Given the description of an element on the screen output the (x, y) to click on. 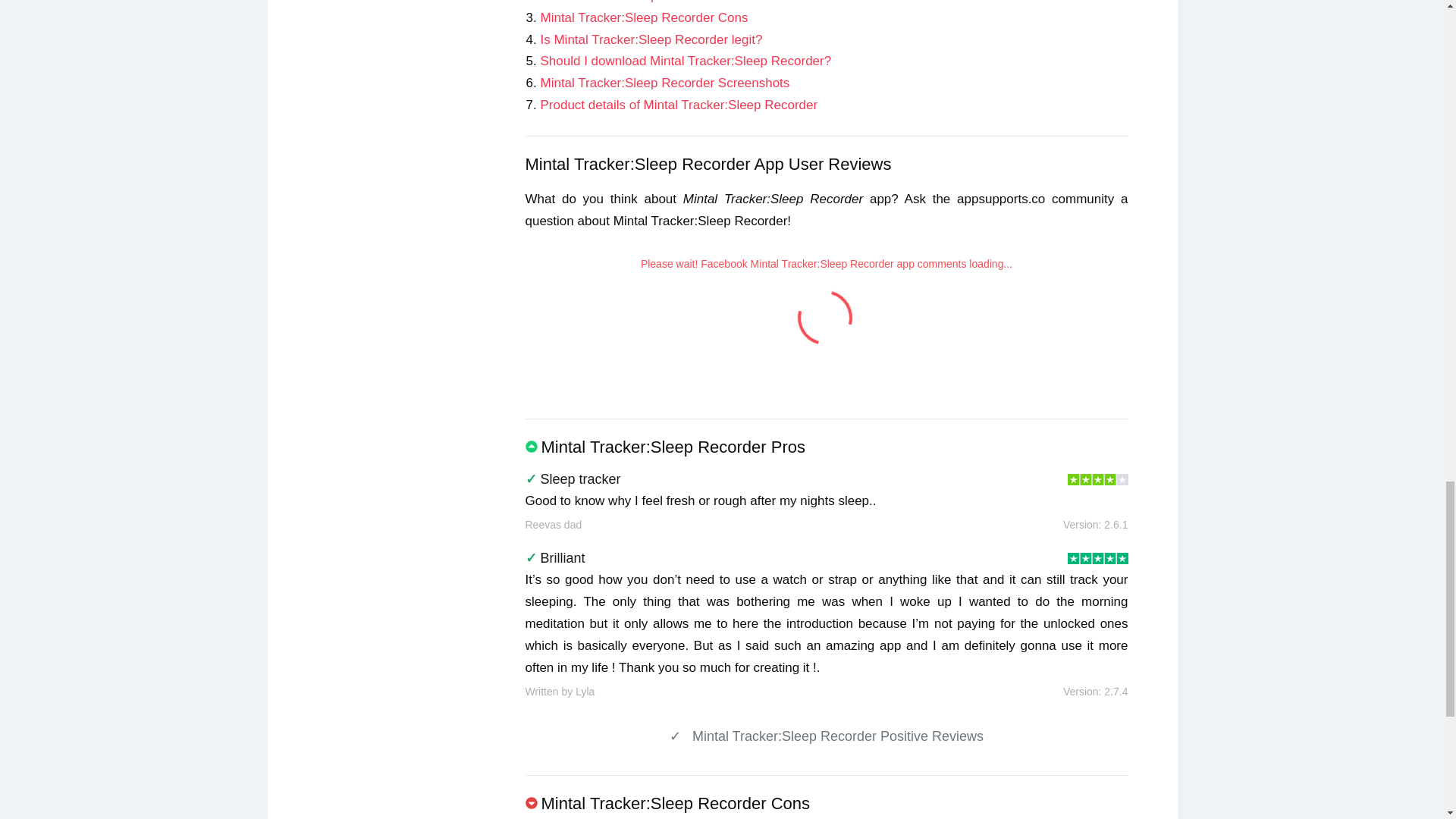
Mintal Tracker:Sleep Recorder Pros (642, 1)
Product details of Mintal Tracker:Sleep Recorder (678, 104)
Mintal Tracker:Sleep Recorder Pros (642, 1)
Should I download Mintal Tracker:Sleep Recorder? (685, 60)
Mintal Tracker:Sleep Recorder Screenshots (664, 83)
Mintal Tracker:Sleep Recorder Cons (644, 17)
Is Mintal Tracker:Sleep Recorder legit? (650, 39)
